Given the description of an element on the screen output the (x, y) to click on. 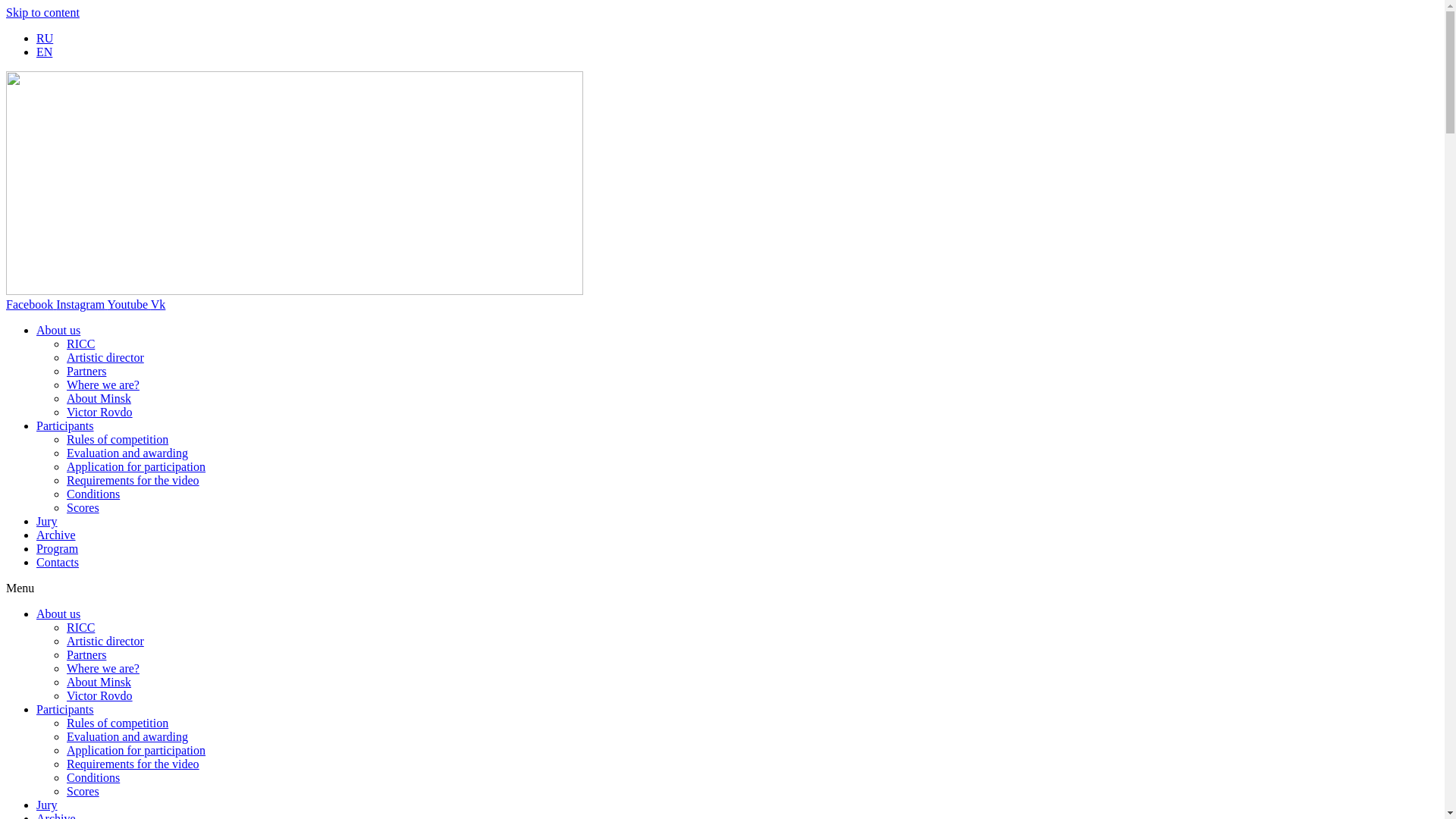
Artistic director Element type: text (105, 640)
Program Element type: text (57, 548)
Participants Element type: text (65, 425)
Rules of competition Element type: text (117, 722)
RU Element type: text (44, 37)
Vk Element type: text (158, 304)
Contacts Element type: text (57, 561)
Scores Element type: text (82, 507)
Evaluation and awarding Element type: text (127, 736)
About us Element type: text (58, 613)
Victor Rovdo Element type: text (99, 411)
Conditions Element type: text (92, 777)
Jury Element type: text (46, 804)
Archive Element type: text (55, 534)
Partners Element type: text (86, 370)
EN Element type: text (44, 51)
Artistic director Element type: text (105, 357)
About Minsk Element type: text (98, 398)
RICC Element type: text (80, 343)
Rules of competition Element type: text (117, 439)
Scores Element type: text (82, 790)
Evaluation and awarding Element type: text (127, 452)
Skip to content Element type: text (42, 12)
Jury Element type: text (46, 520)
Application for participation Element type: text (135, 466)
Youtube Element type: text (128, 304)
Partners Element type: text (86, 654)
Participants Element type: text (65, 708)
Where we are? Element type: text (102, 384)
About us Element type: text (58, 329)
Facebook Element type: text (31, 304)
Conditions Element type: text (92, 493)
Victor Rovdo Element type: text (99, 695)
Requirements for the video Element type: text (132, 763)
About Minsk Element type: text (98, 681)
Instagram Element type: text (81, 304)
Requirements for the video Element type: text (132, 479)
Application for participation Element type: text (135, 749)
Where we are? Element type: text (102, 668)
RICC Element type: text (80, 627)
